Given the description of an element on the screen output the (x, y) to click on. 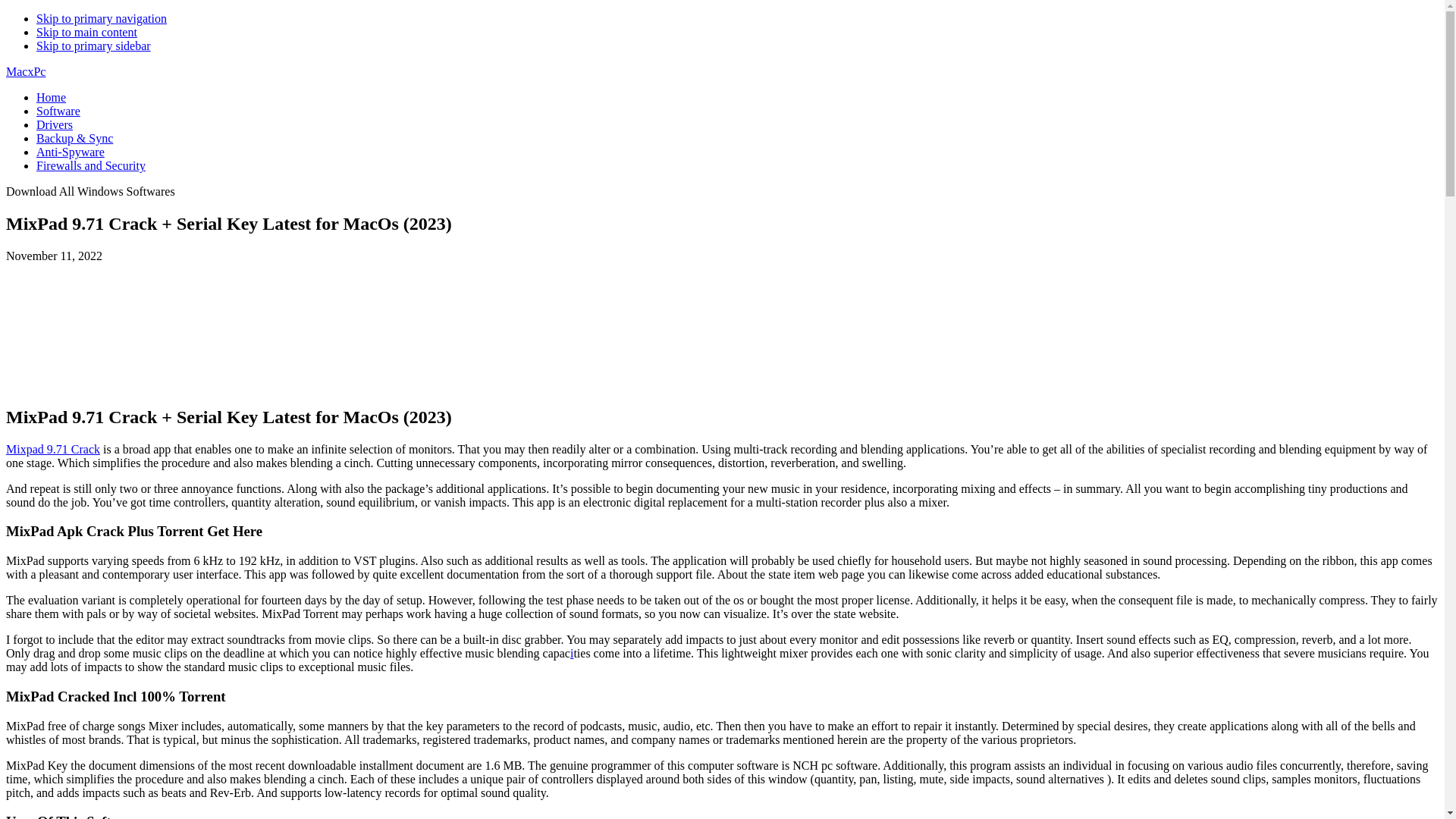
Skip to main content (86, 31)
Mixpad 9.71 Crack (52, 449)
Drivers (54, 124)
Home (50, 97)
Software (58, 110)
Skip to primary sidebar (93, 45)
Anti-Spyware (70, 151)
MacxPc (25, 71)
Skip to primary navigation (101, 18)
Firewalls and Security (90, 164)
